Given the description of an element on the screen output the (x, y) to click on. 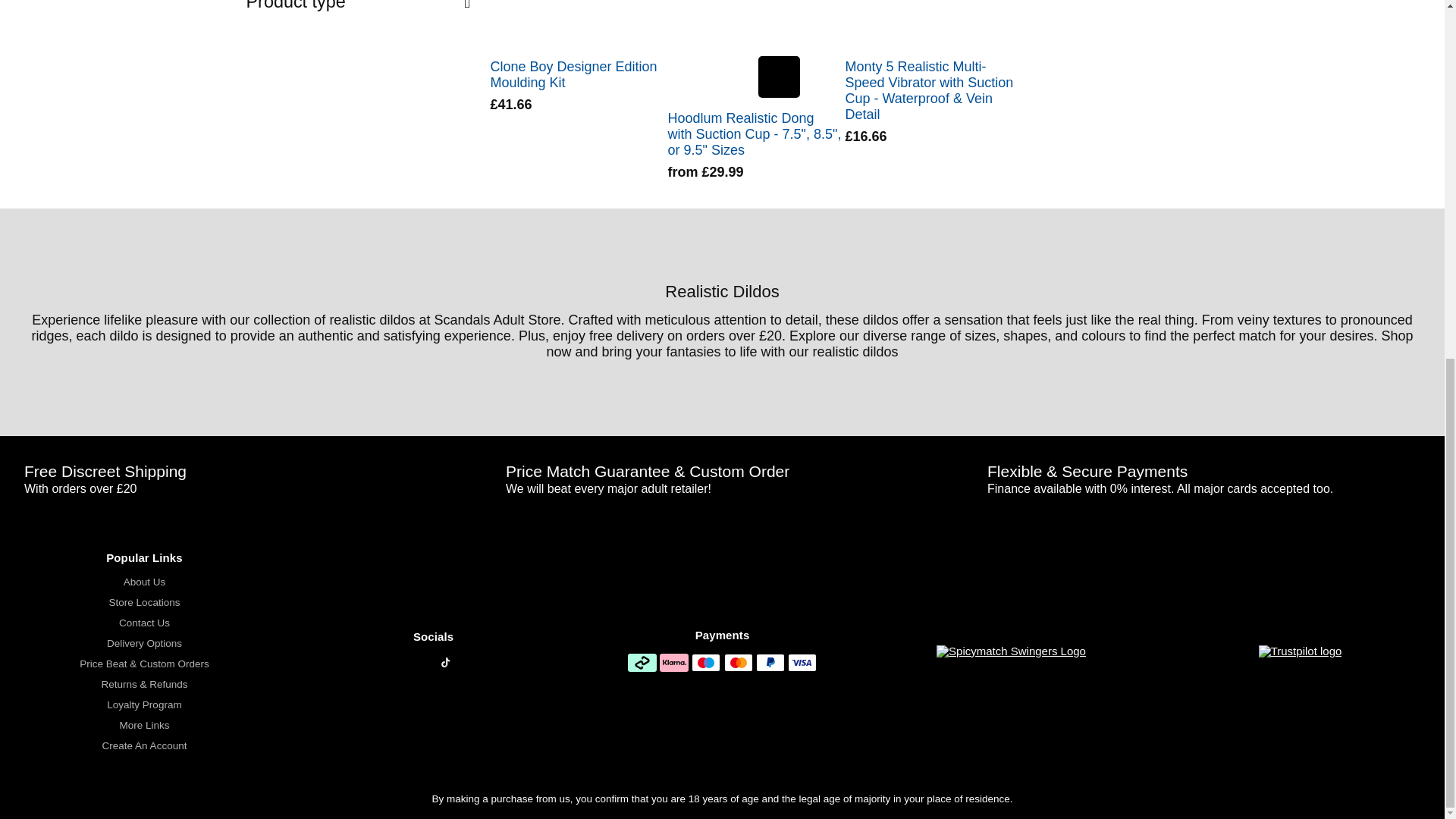
Maestro (705, 662)
Visa (801, 662)
PayPal (769, 662)
Klarna (673, 662)
Afterpay (641, 662)
Mastercard (737, 662)
